Given the description of an element on the screen output the (x, y) to click on. 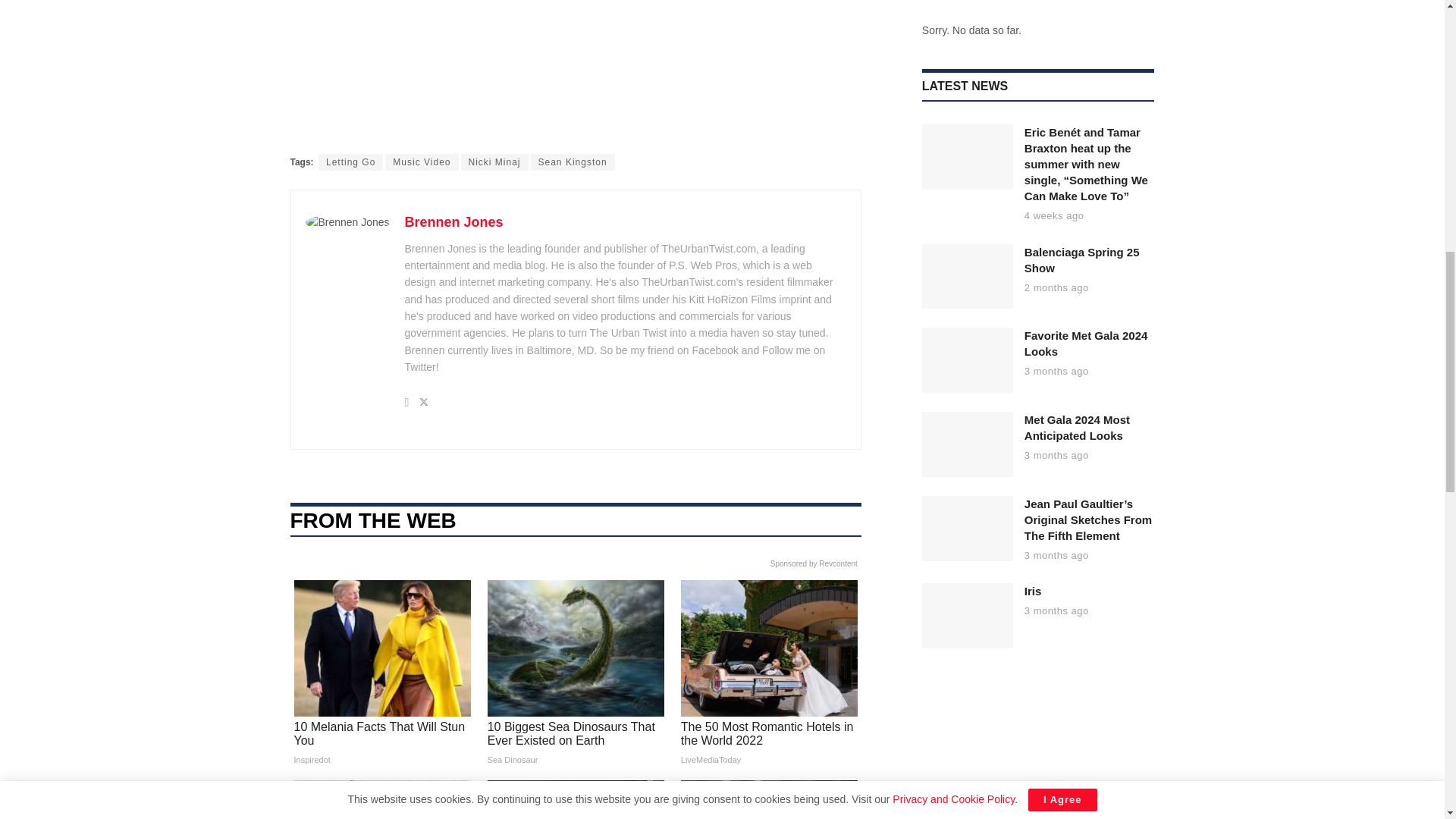
Letting Go (350, 161)
Sean Kingston (572, 161)
Music Video (421, 161)
Nicki Minaj (494, 161)
Brennen Jones (453, 222)
